Given the description of an element on the screen output the (x, y) to click on. 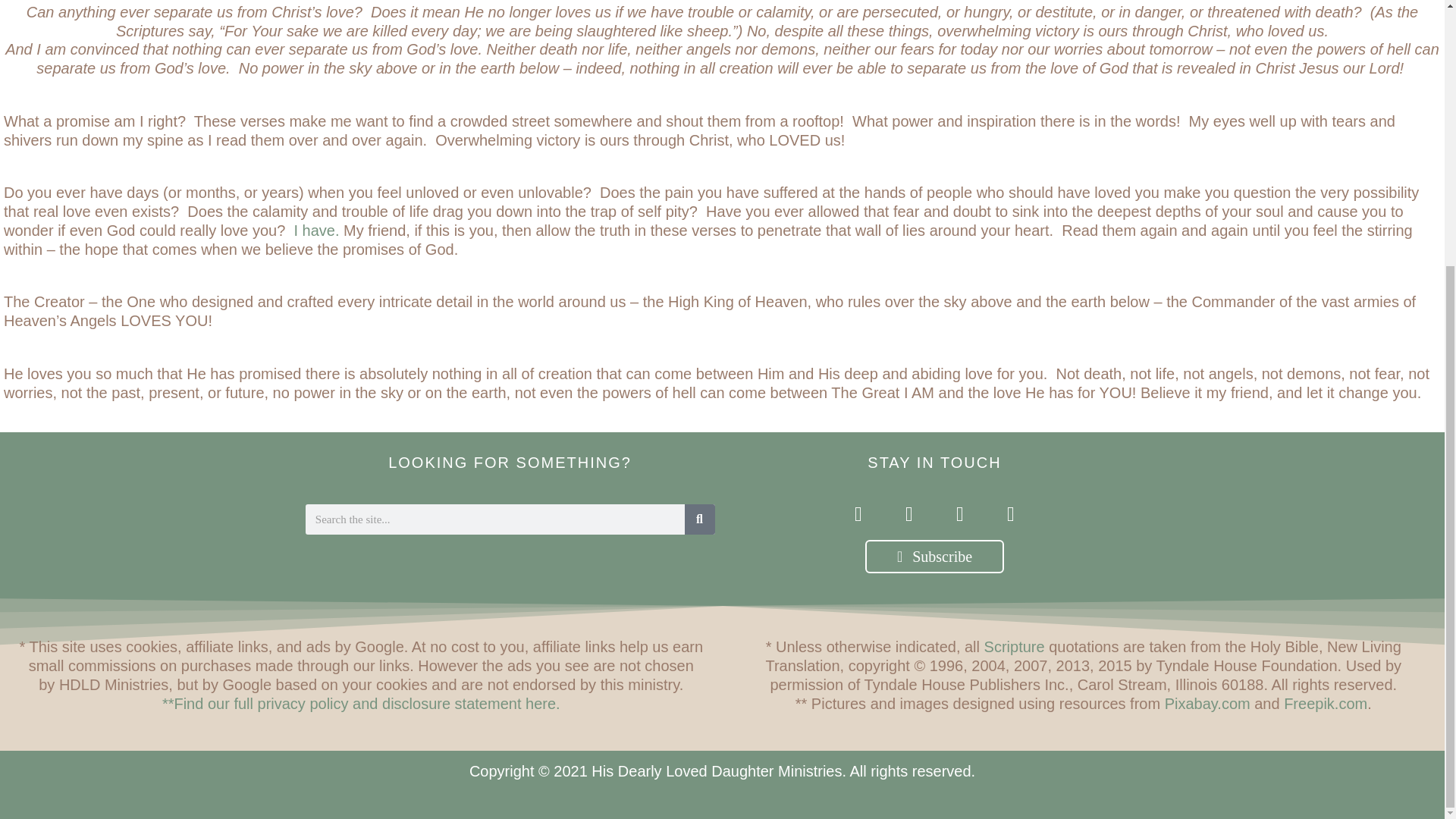
Pinterest (959, 514)
Facebook (1011, 514)
I have. (316, 230)
Search (699, 519)
Facebook-f (857, 514)
Subscribe (934, 556)
Pixabay.com (1207, 702)
Instagram (909, 514)
Freepik.com (1325, 702)
Scripture (1014, 646)
